Given the description of an element on the screen output the (x, y) to click on. 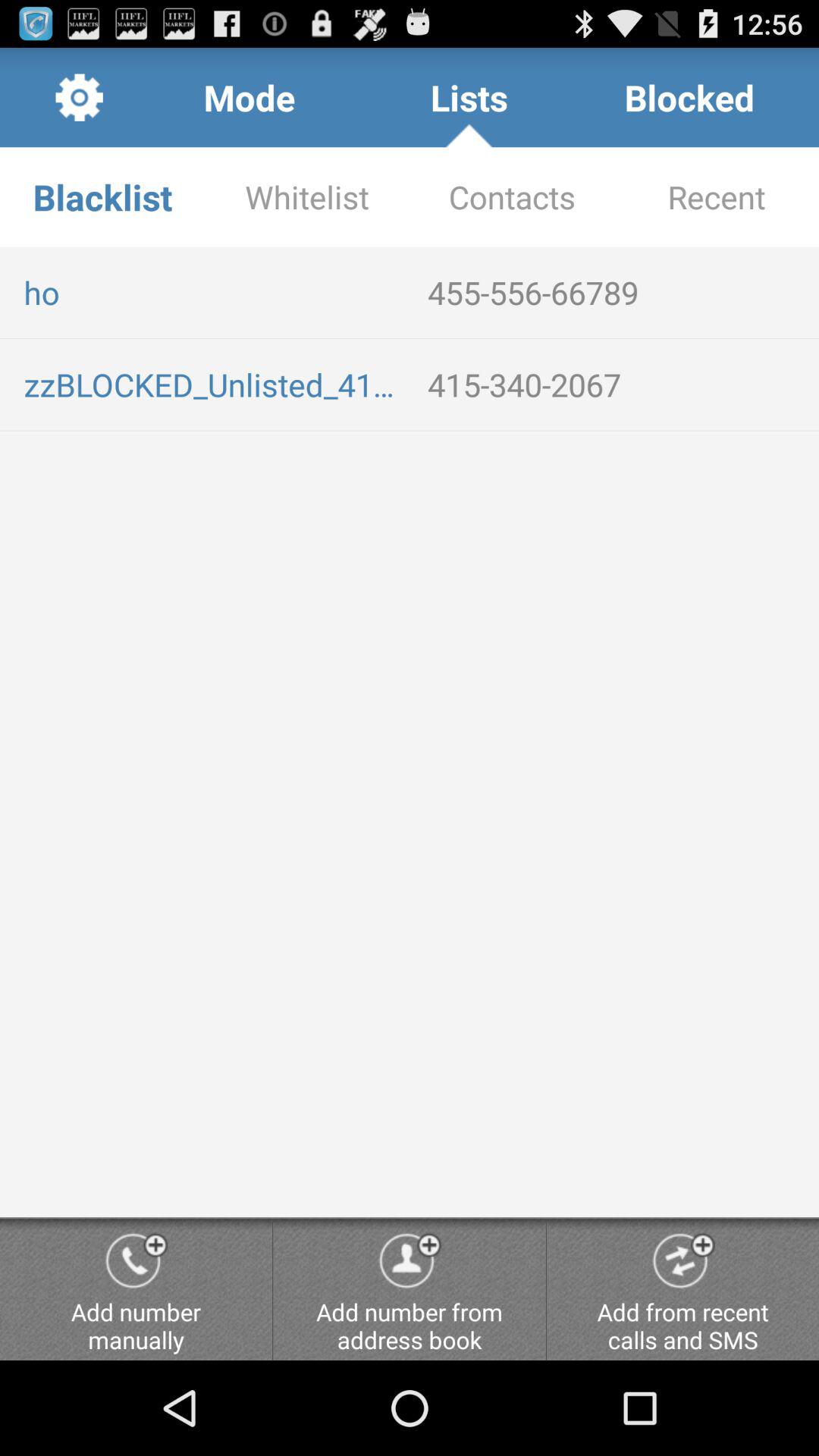
turn on the item next to zzblocked_unlisted_4153402067 (617, 384)
